Given the description of an element on the screen output the (x, y) to click on. 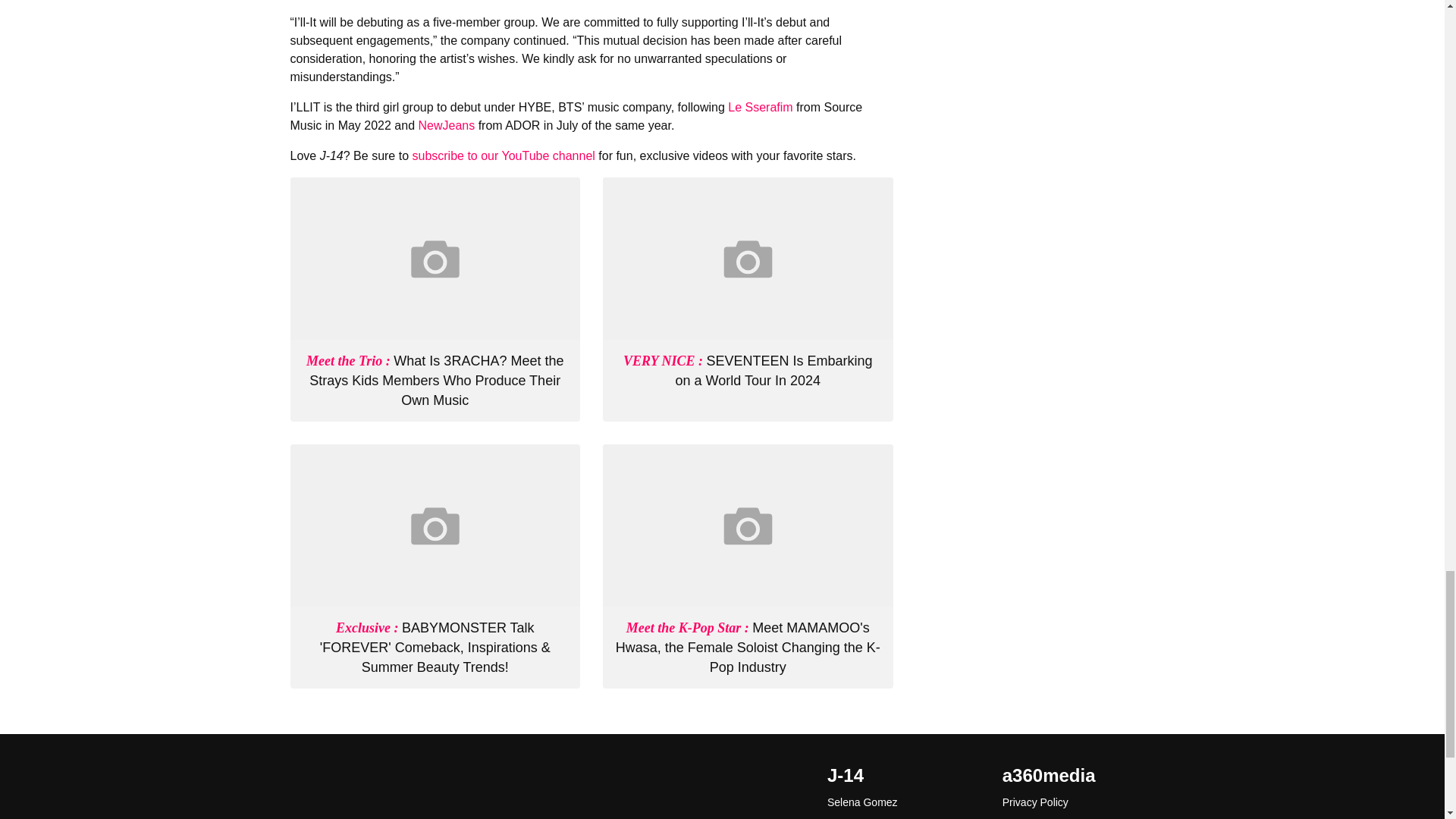
subscribe to our YouTube channel (503, 155)
Home (434, 787)
Le Sserafim (760, 106)
NewJeans (445, 124)
VERY NICE SEVENTEEN Is Embarking on a World Tour In 2024 (747, 370)
